Given the description of an element on the screen output the (x, y) to click on. 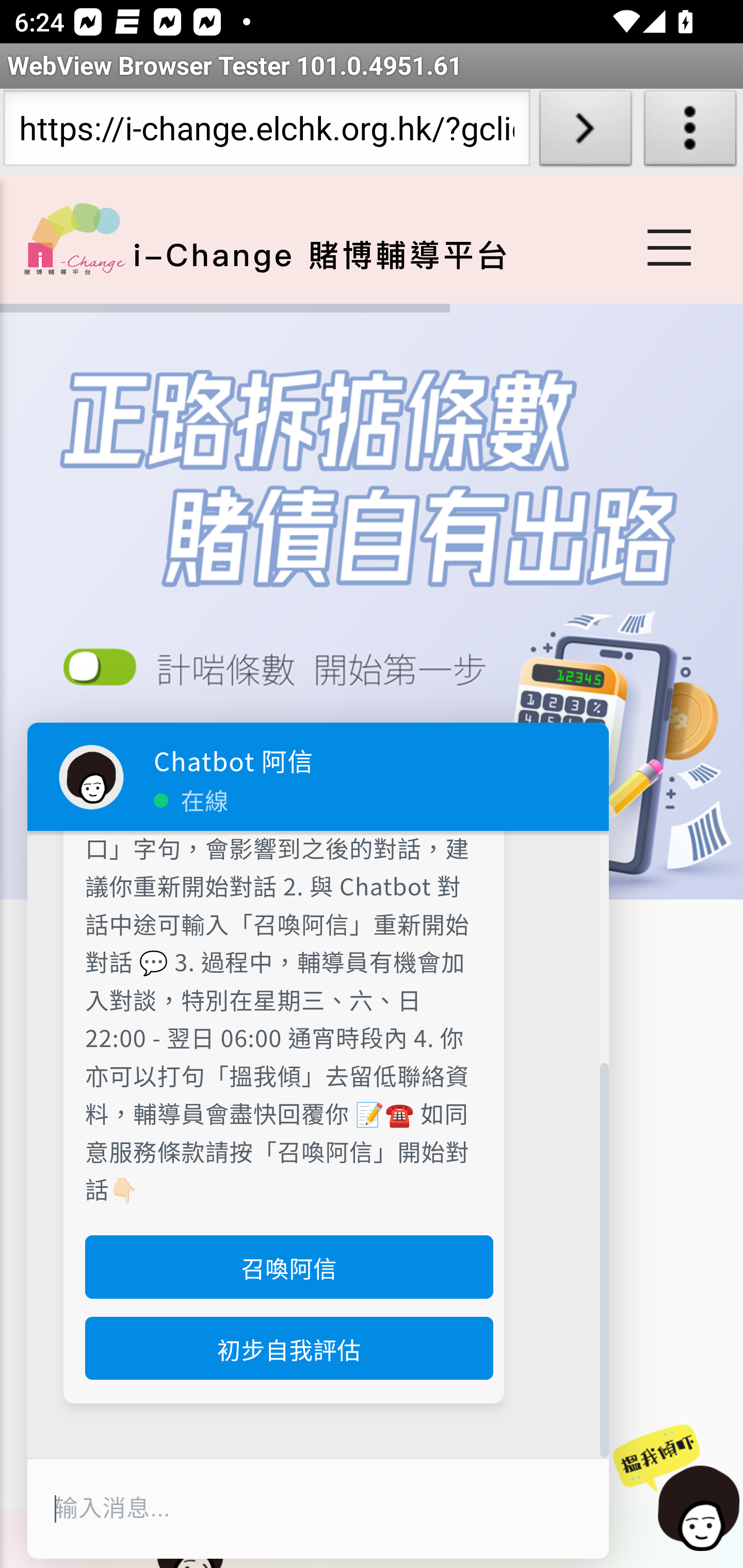
Load URL (585, 132)
About WebView (690, 132)
Home (74, 238)
查閱私隱政策 (283, 674)
Chat Now (674, 1488)
